Given the description of an element on the screen output the (x, y) to click on. 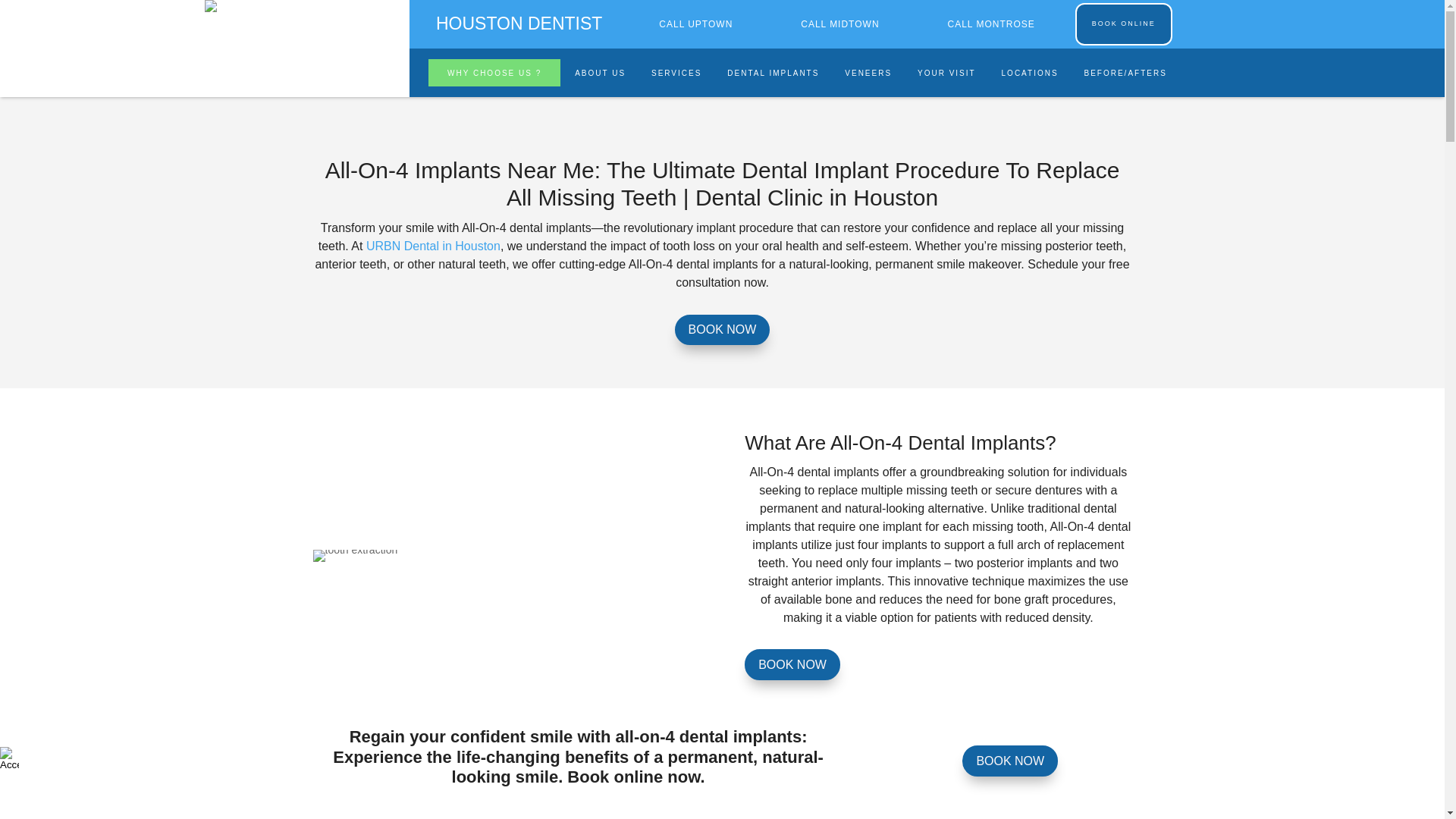
urban-dental-log-and-google-review-updated (248, 6)
dental-implants-near-me (355, 555)
